Given the description of an element on the screen output the (x, y) to click on. 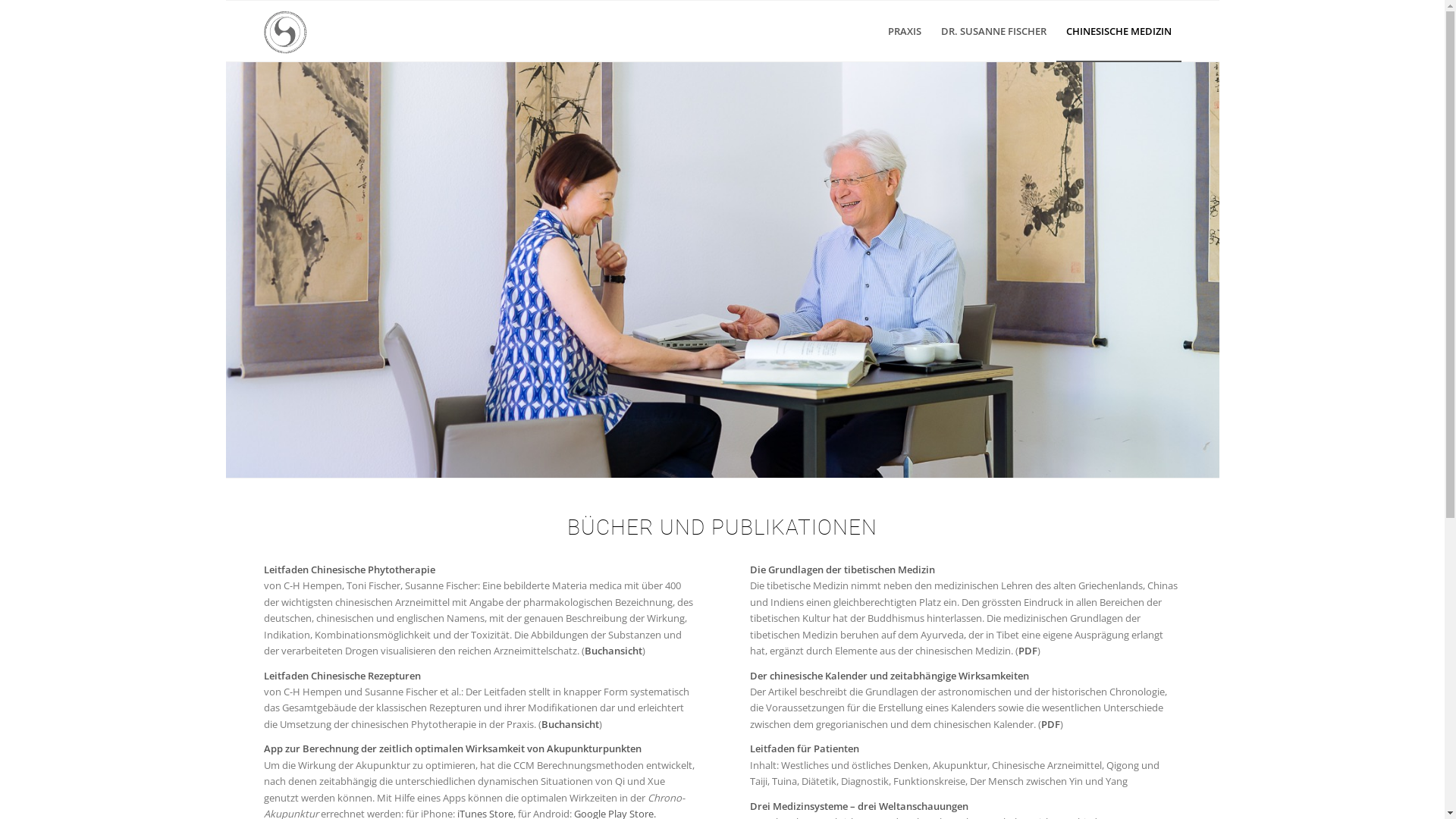
Buchansicht Element type: text (570, 724)
DR. SUSANNE FISCHER Element type: text (993, 30)
js4stf_160521_1525_1500px Element type: hover (722, 268)
Buchansicht Element type: text (612, 650)
CHINESISCHE MEDIZIN Element type: text (1117, 30)
PDF Element type: text (1050, 724)
PRAXIS Element type: text (904, 30)
PDF Element type: text (1027, 650)
